Given the description of an element on the screen output the (x, y) to click on. 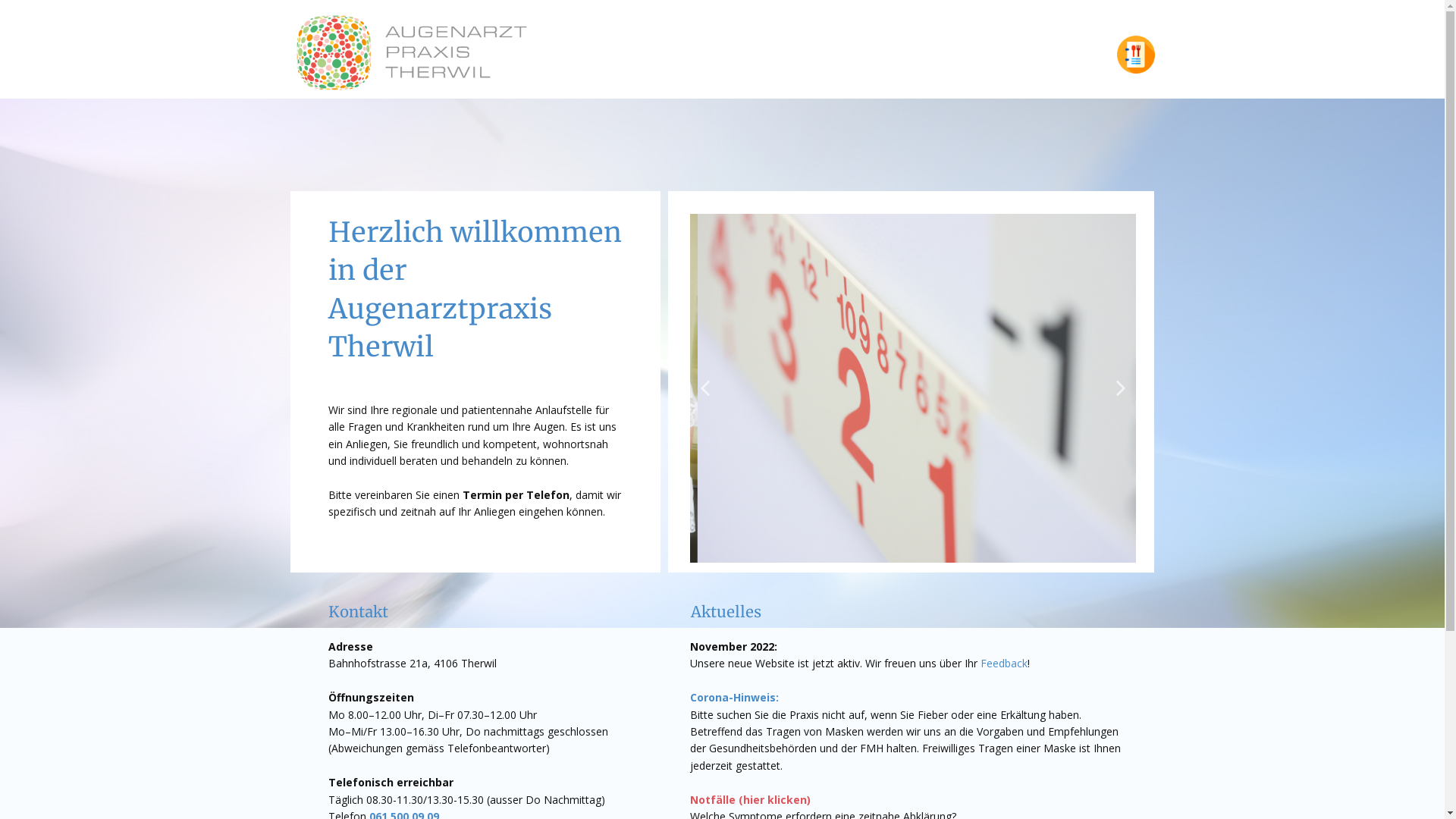
Feedback Element type: text (1003, 662)
Home Element type: hover (410, 52)
